Given the description of an element on the screen output the (x, y) to click on. 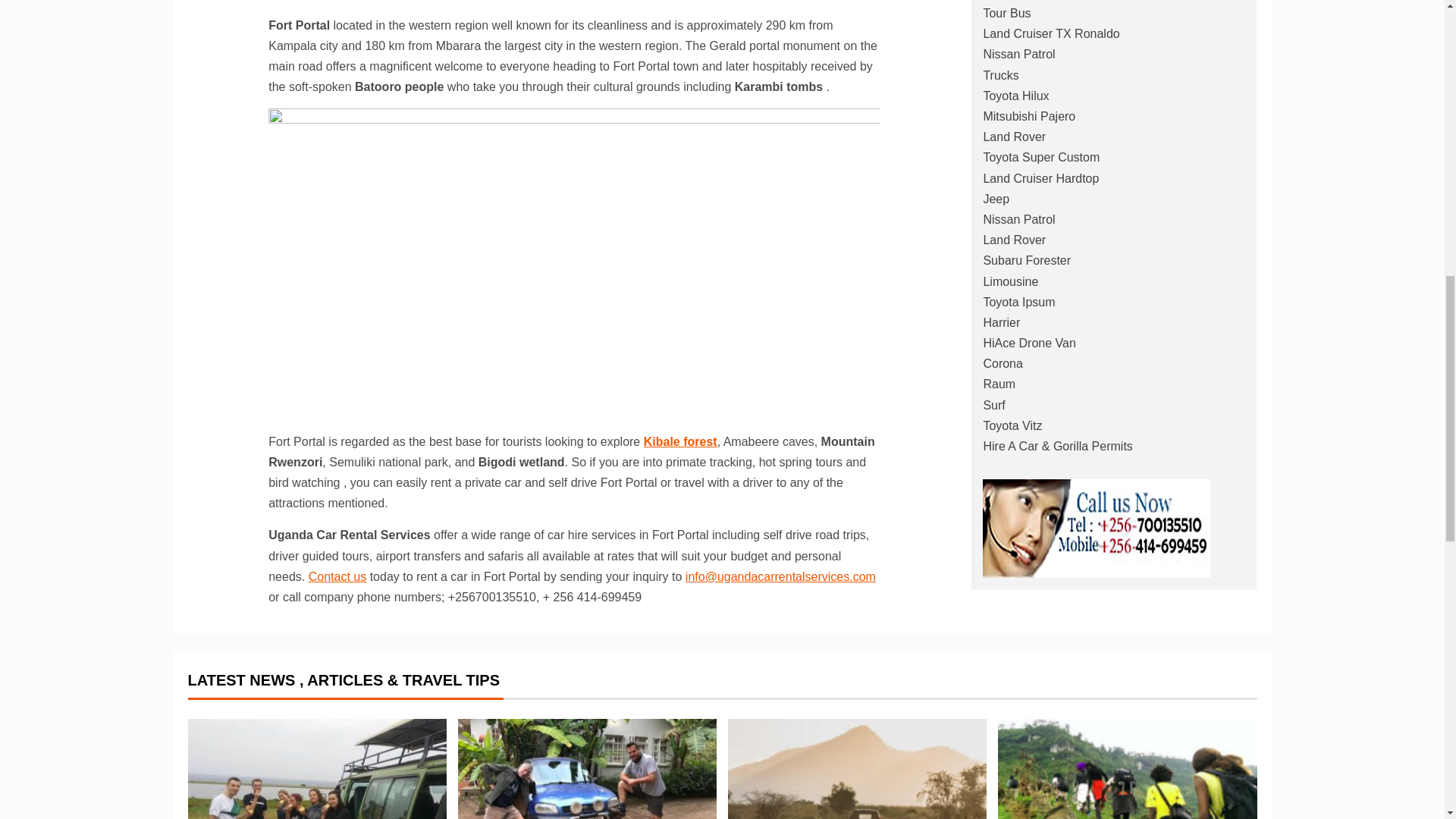
Contact us (337, 576)
Kibale forest (680, 440)
